Given the description of an element on the screen output the (x, y) to click on. 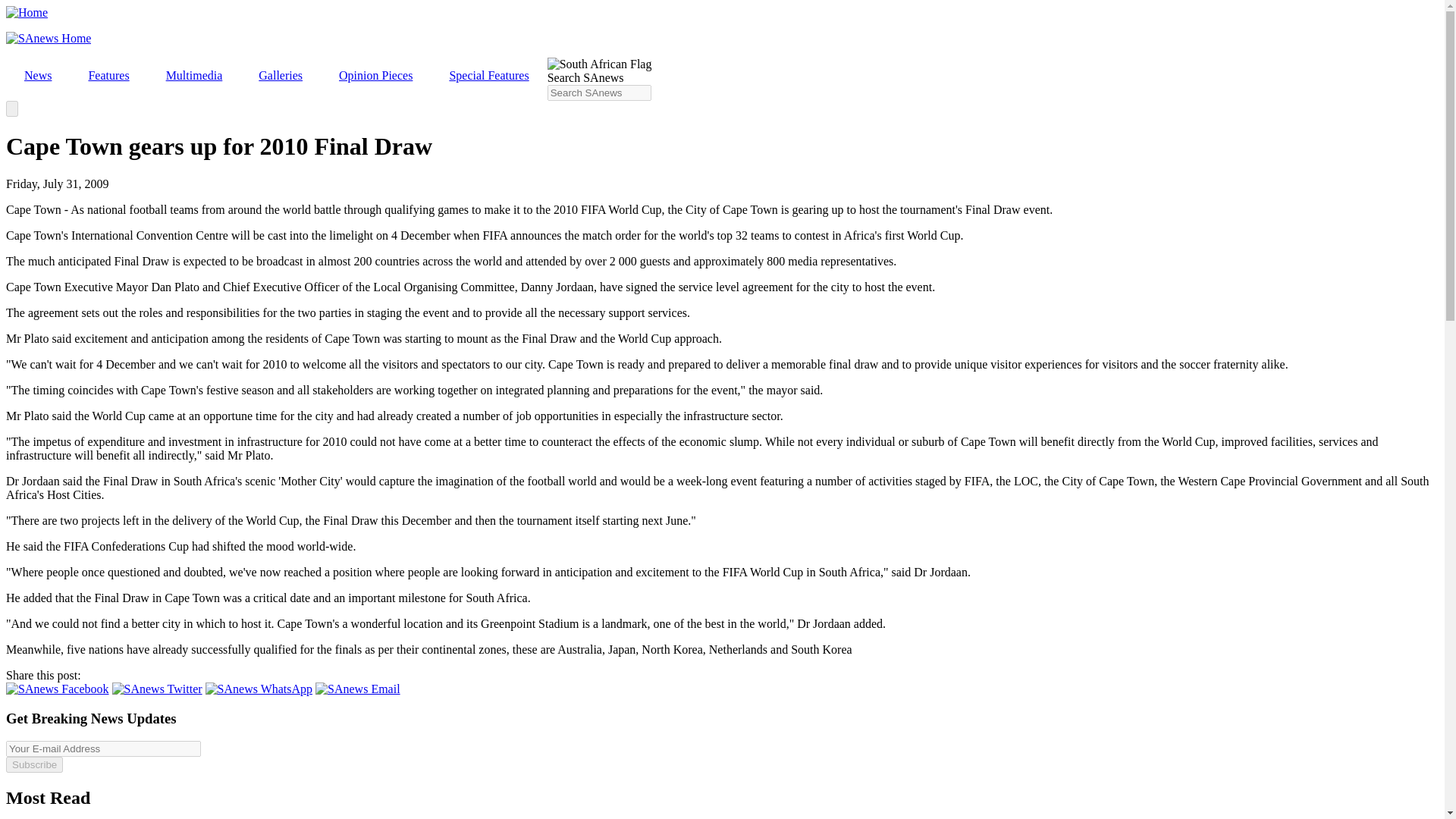
Features (108, 75)
Special Features (488, 75)
Share by Email (357, 688)
Subscribe (33, 764)
Share on Facebook (57, 688)
Multimedia (194, 75)
Share on Twitter (157, 688)
Galleries (280, 75)
Opinion Pieces (375, 75)
Enter the terms you wish to search for. (598, 92)
Subscribe (33, 764)
Home (26, 11)
Share on WhatsApp (259, 688)
News (37, 75)
